Given the description of an element on the screen output the (x, y) to click on. 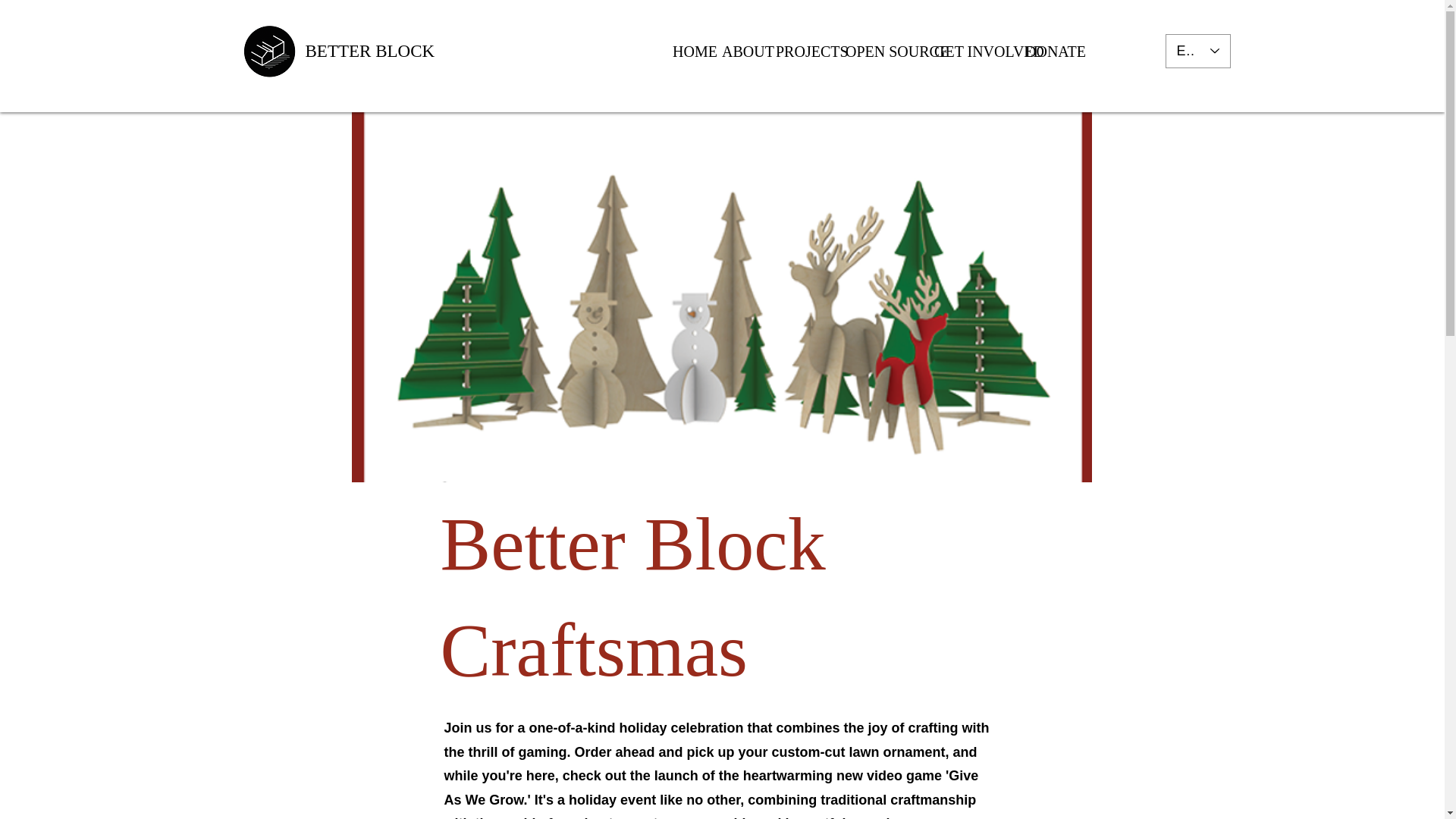
DONATE (1043, 51)
ABOUT (737, 51)
PROJECTS (799, 51)
GET INVOLVED (968, 51)
OPEN SOURCE (878, 51)
BETTER BLOCK (368, 50)
HOME (685, 51)
